Given the description of an element on the screen output the (x, y) to click on. 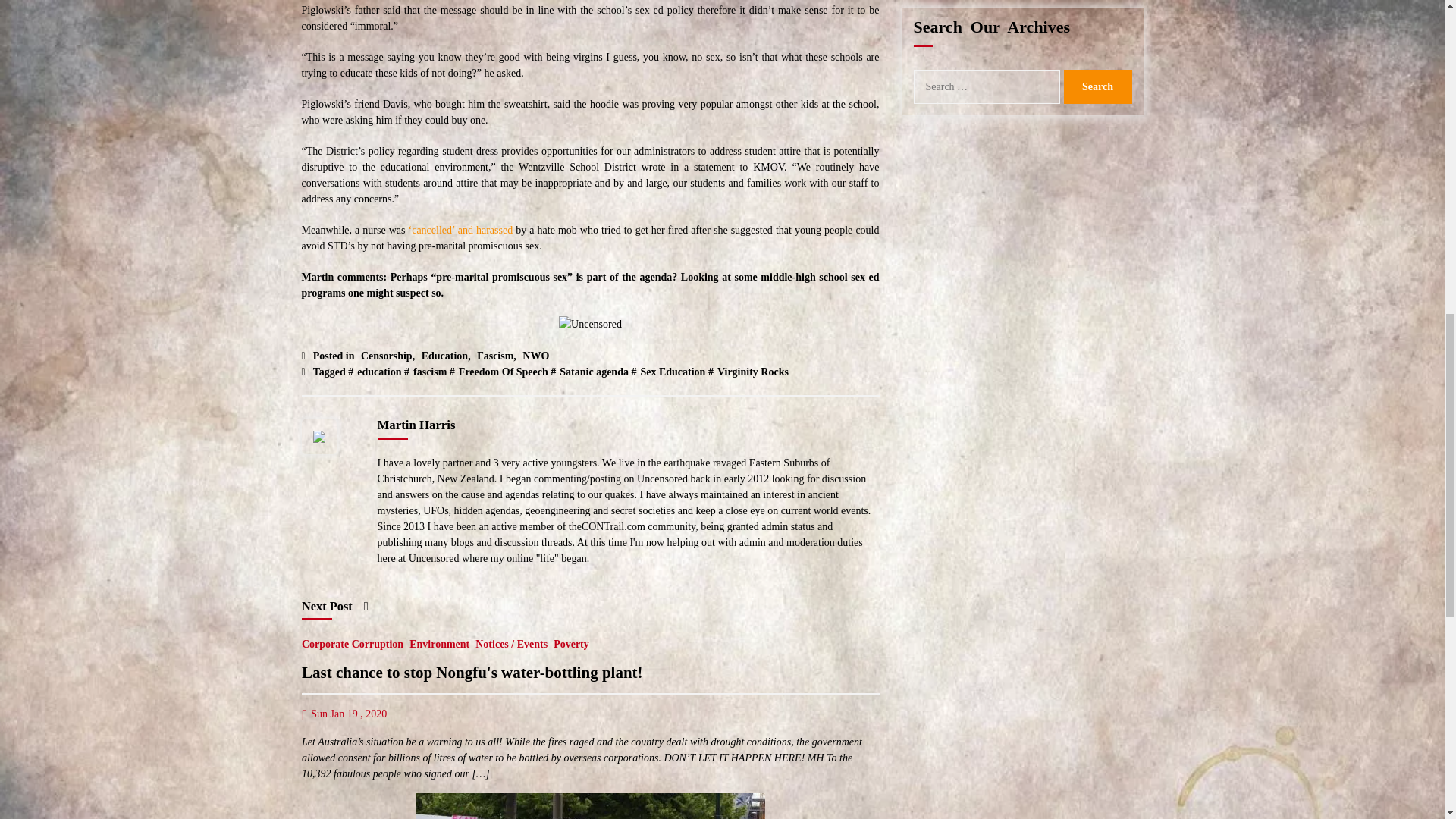
Search (1096, 86)
Search (1096, 86)
